Given the description of an element on the screen output the (x, y) to click on. 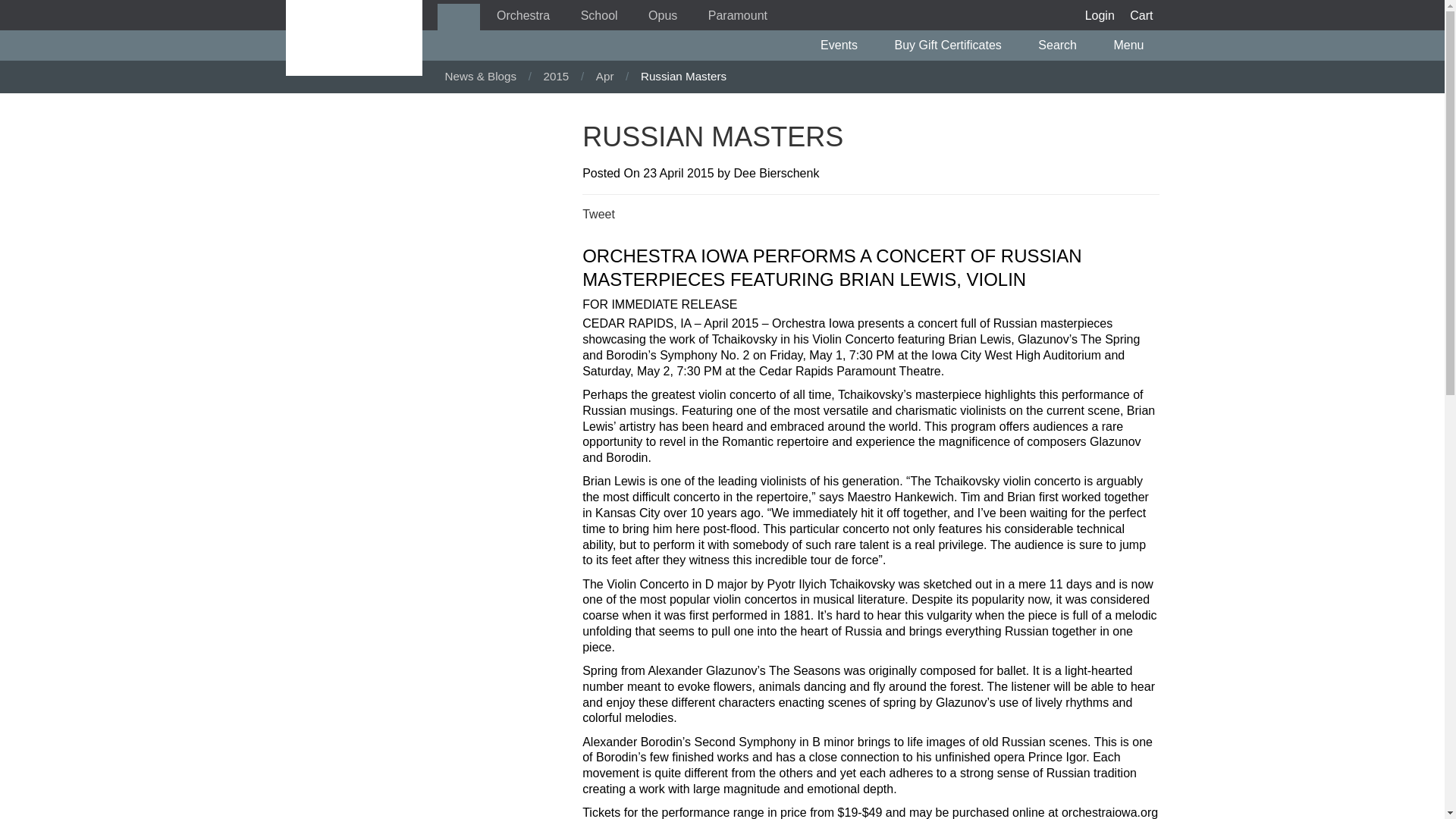
Tweet (598, 214)
Cart (1141, 17)
Menu (1132, 45)
RUSSIAN MASTERS (352, 38)
School (599, 17)
Paramount (737, 17)
Plan Your Visit (1132, 45)
Home (457, 17)
2015 (557, 75)
Orchestra Iowa (523, 17)
